Given the description of an element on the screen output the (x, y) to click on. 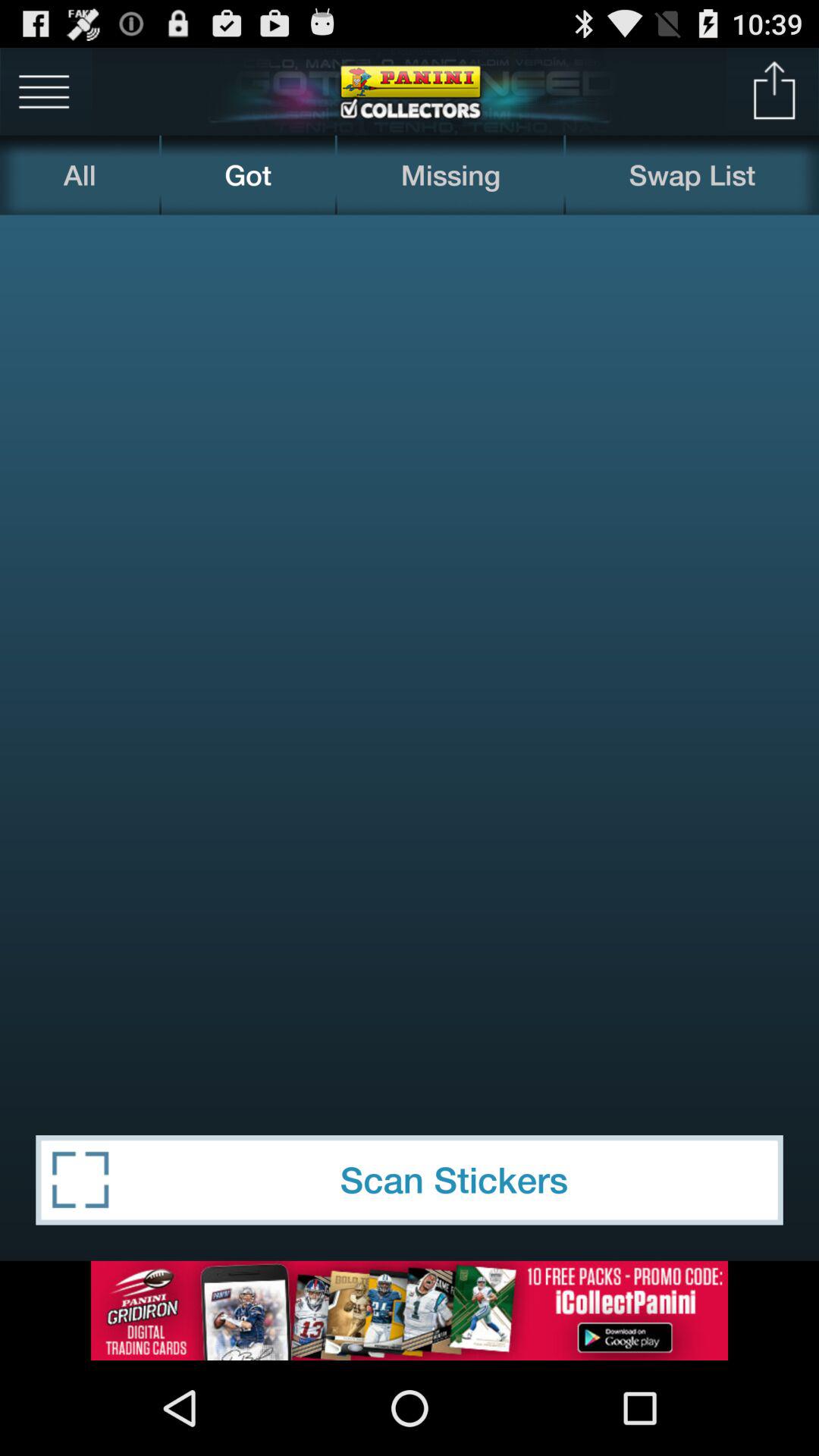
tap scan stickers item (409, 1180)
